Given the description of an element on the screen output the (x, y) to click on. 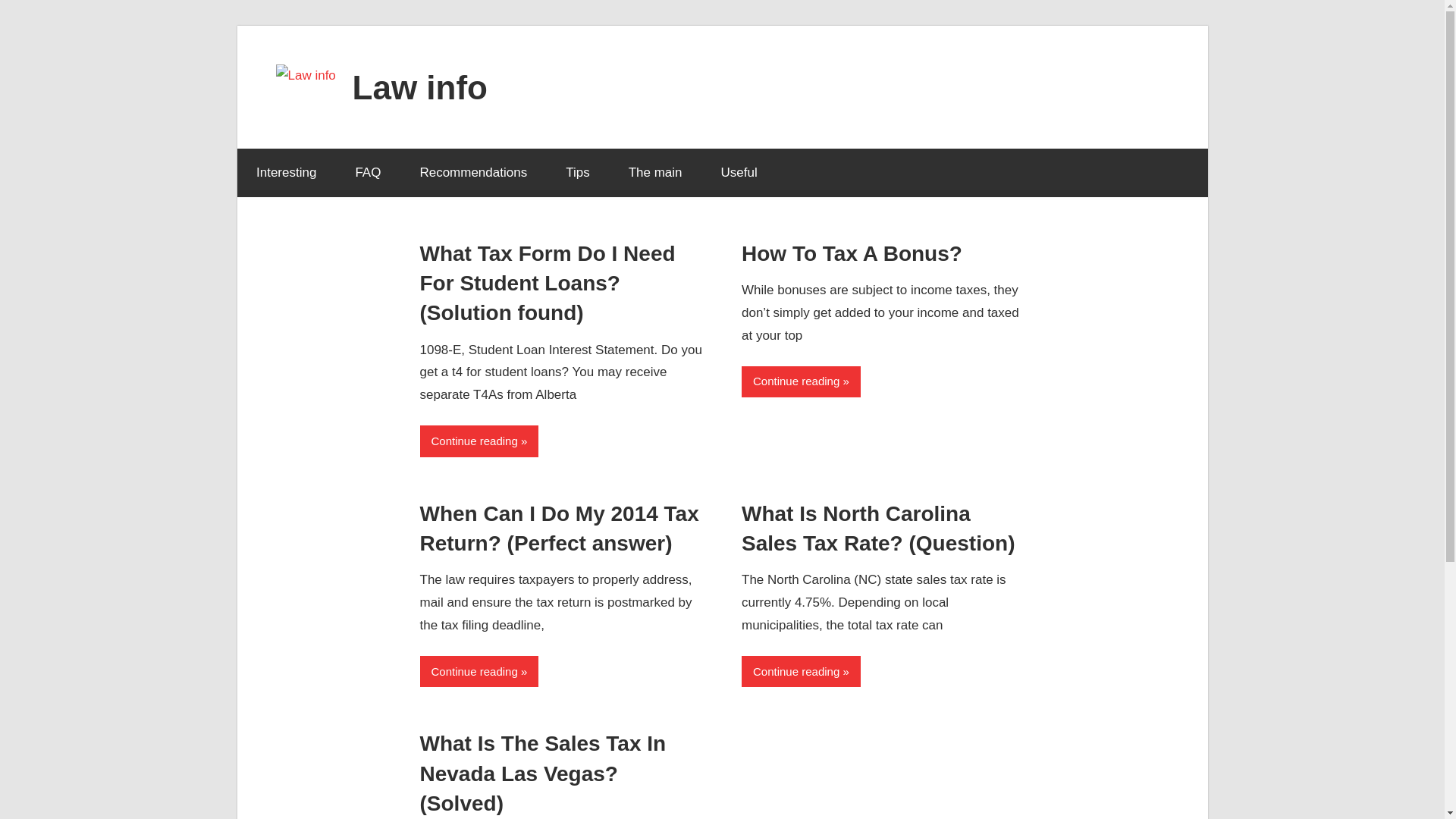
Useful (738, 172)
Interesting (284, 172)
The main (654, 172)
Continue reading (800, 671)
Continue reading (479, 440)
Recommendations (473, 172)
Continue reading (479, 671)
Law info (419, 86)
Continue reading (800, 381)
